Given the description of an element on the screen output the (x, y) to click on. 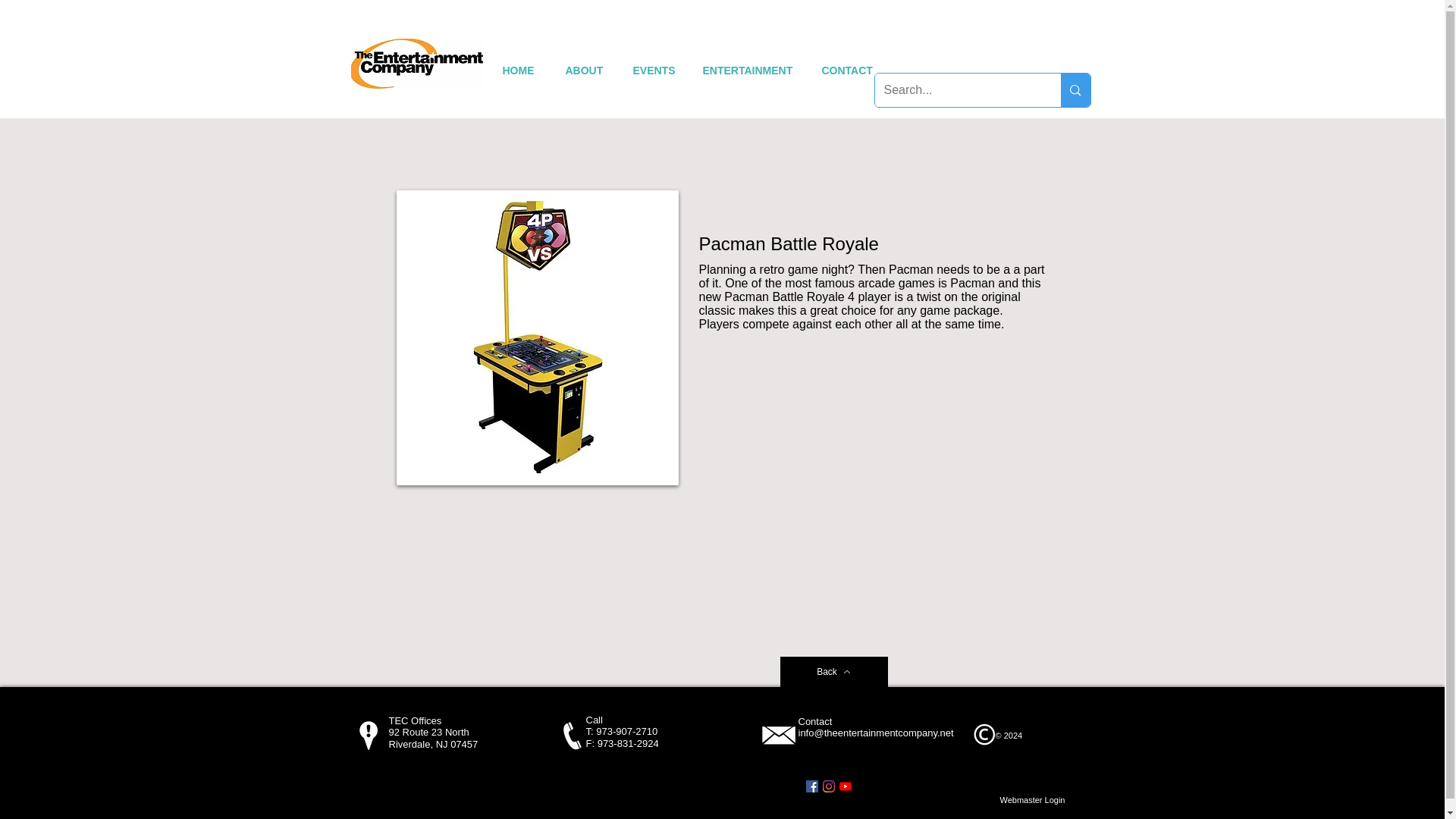
Webmaster Login (1032, 800)
ENTERTAINMENT (746, 70)
ABOUT (583, 70)
CONTACT (846, 70)
HOME (518, 70)
EVENTS (652, 70)
Back (832, 671)
